Given the description of an element on the screen output the (x, y) to click on. 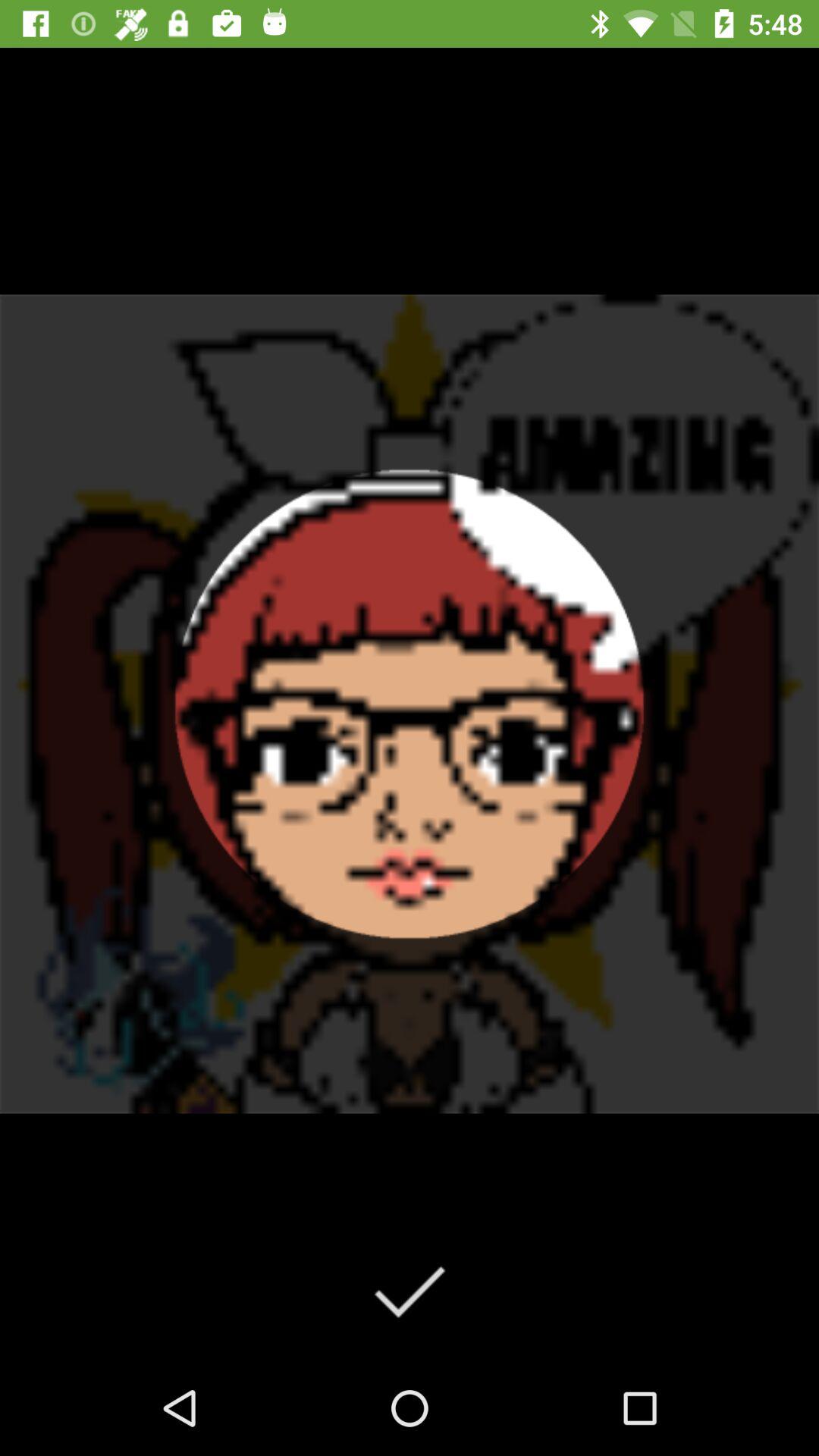
done simpal (408, 1290)
